Given the description of an element on the screen output the (x, y) to click on. 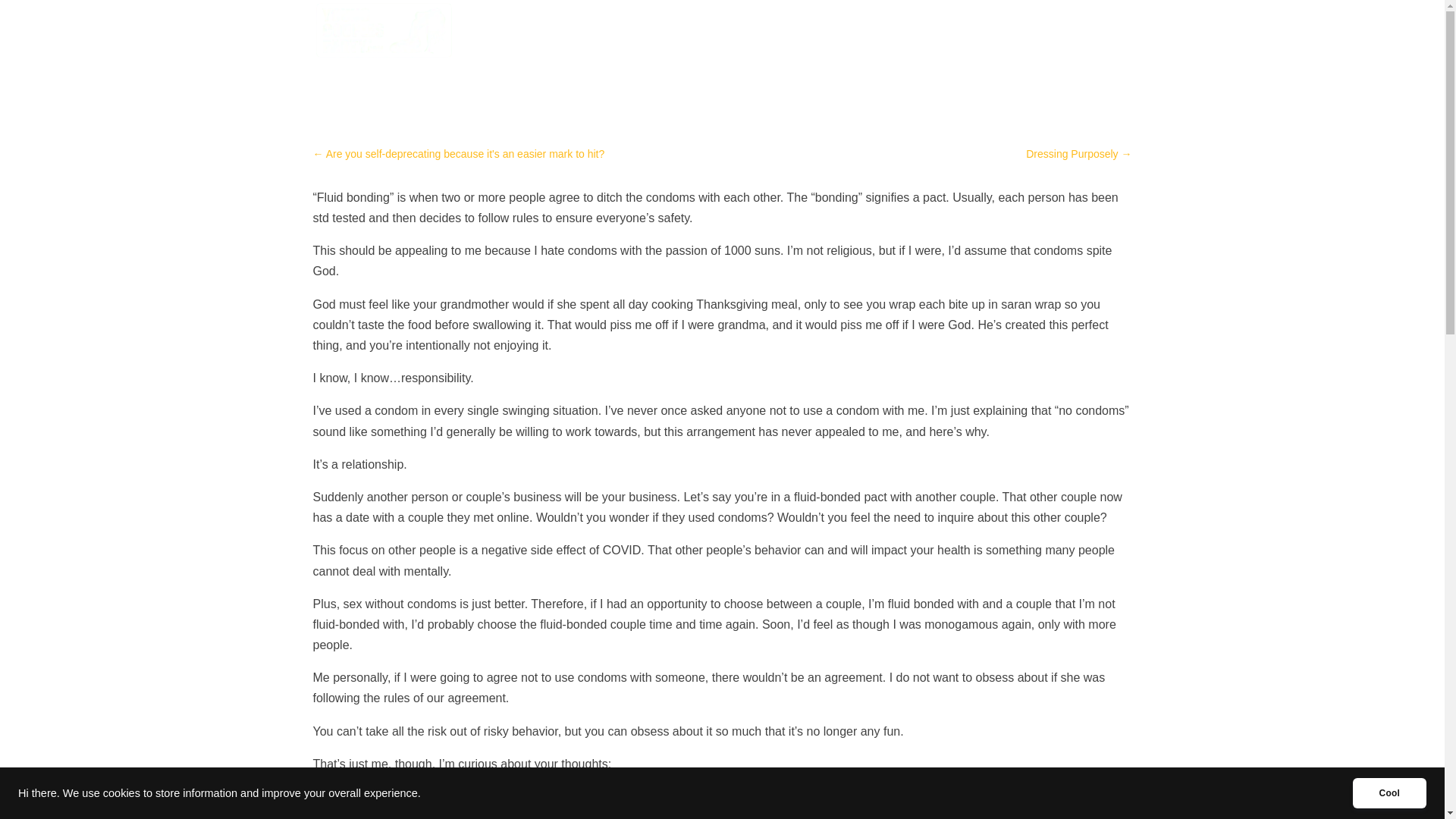
Events (869, 42)
Contact (1064, 42)
About Us (999, 42)
Home (775, 42)
Register (931, 42)
